Given the description of an element on the screen output the (x, y) to click on. 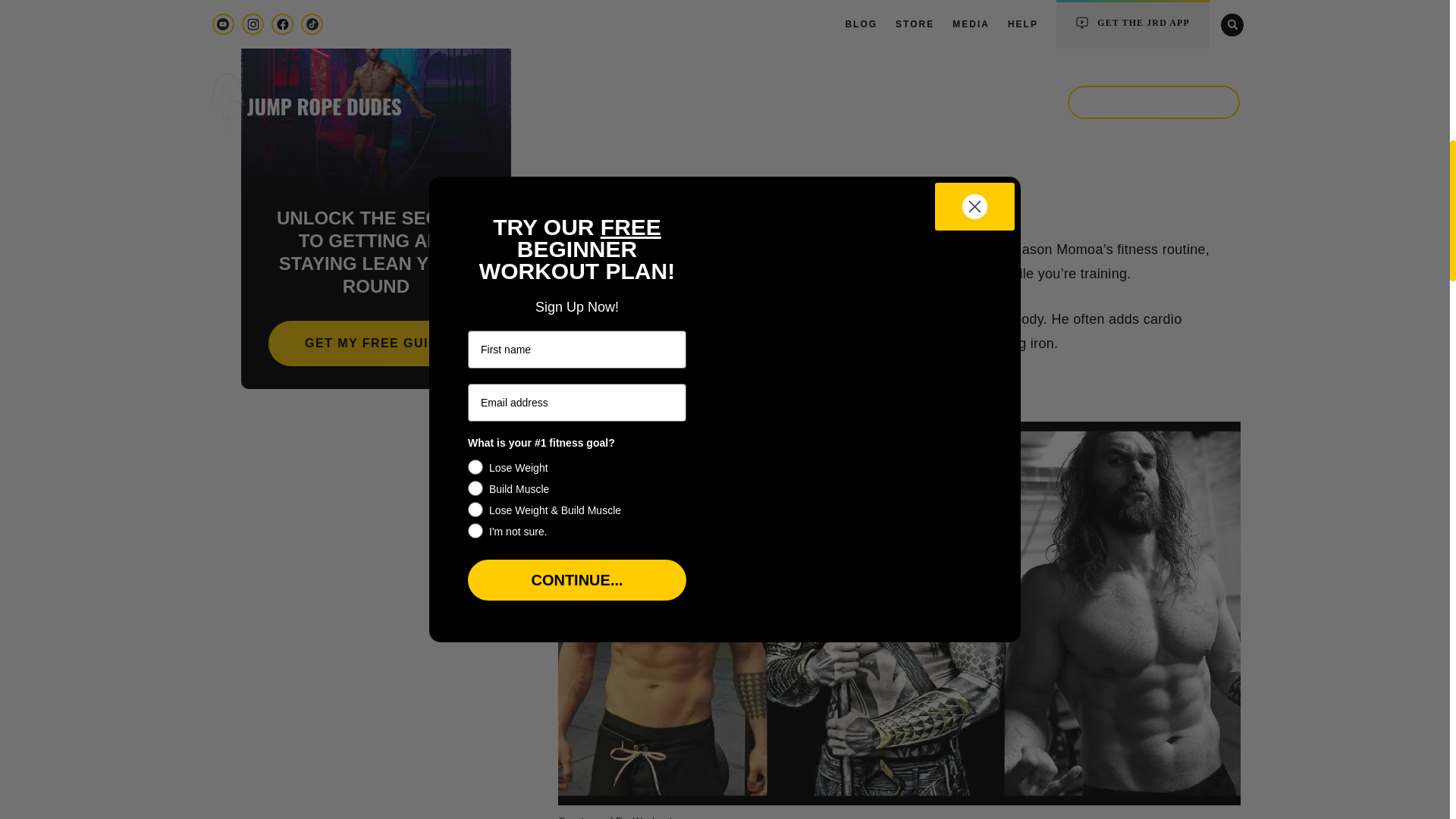
GET MY FREE GUIDE (375, 343)
